Given the description of an element on the screen output the (x, y) to click on. 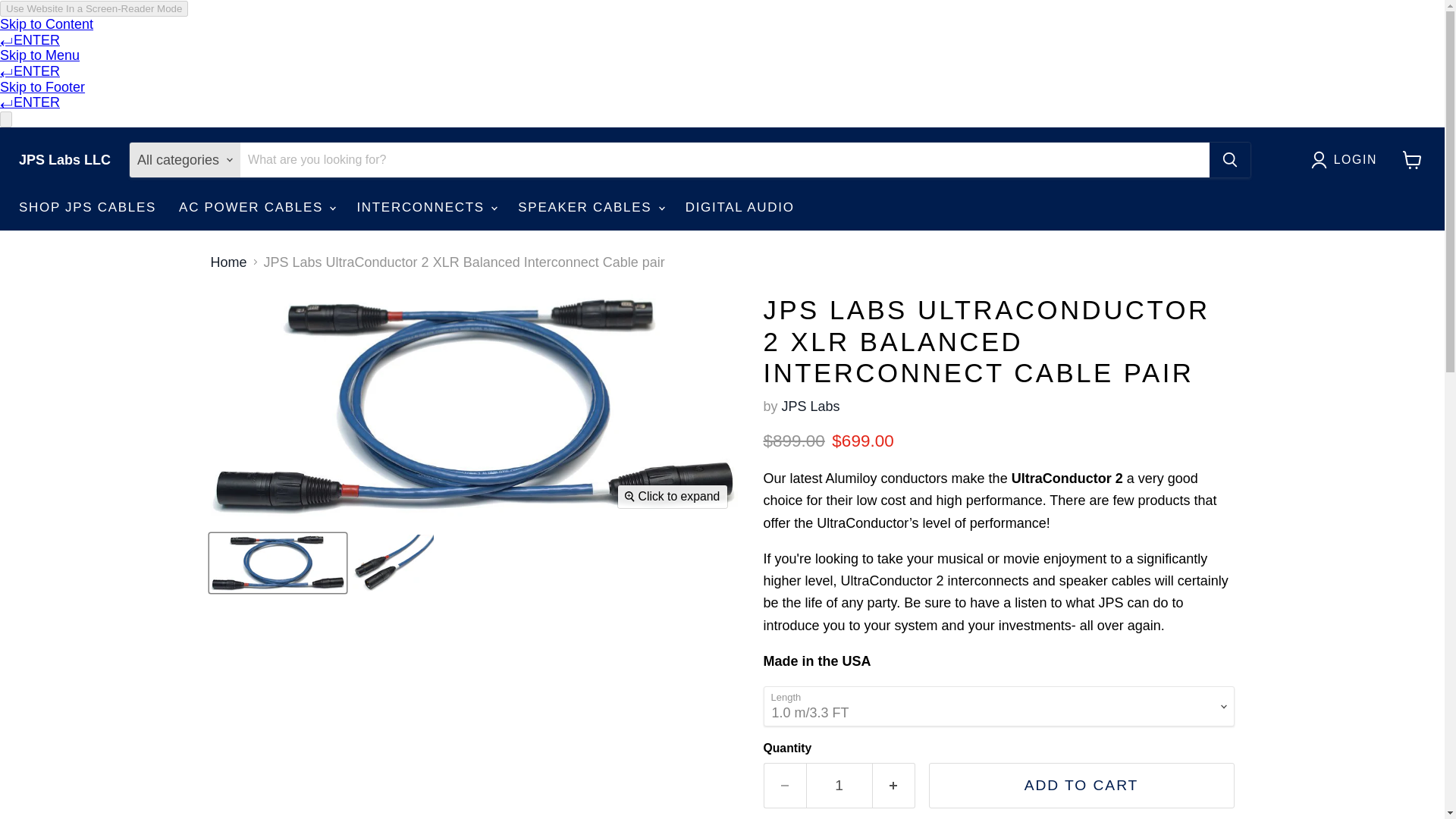
JPS Labs (810, 406)
SHOP JPS CABLES (87, 207)
DIGITAL AUDIO (740, 207)
View cart (1411, 159)
JPS Labs LLC (64, 160)
Page 3 (997, 569)
LOGIN (1347, 159)
1 (838, 785)
